Given the description of an element on the screen output the (x, y) to click on. 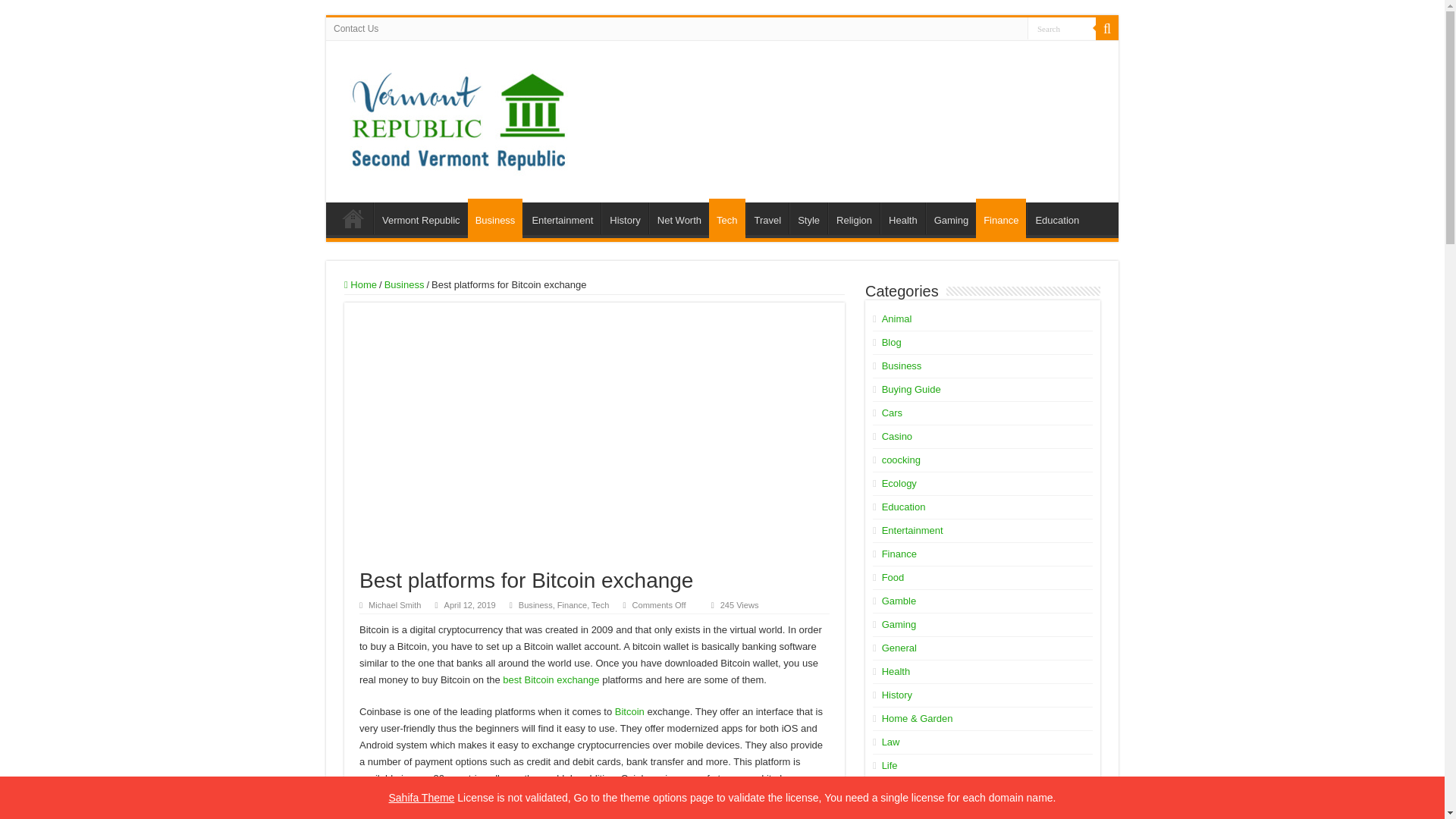
Home (360, 284)
Search (1061, 28)
Finance (1000, 218)
Michael Smith (394, 604)
Tech (726, 218)
Business (404, 284)
Net Worth (679, 218)
Vermont Republic (420, 218)
Religion (853, 218)
Travel (767, 218)
